Given the description of an element on the screen output the (x, y) to click on. 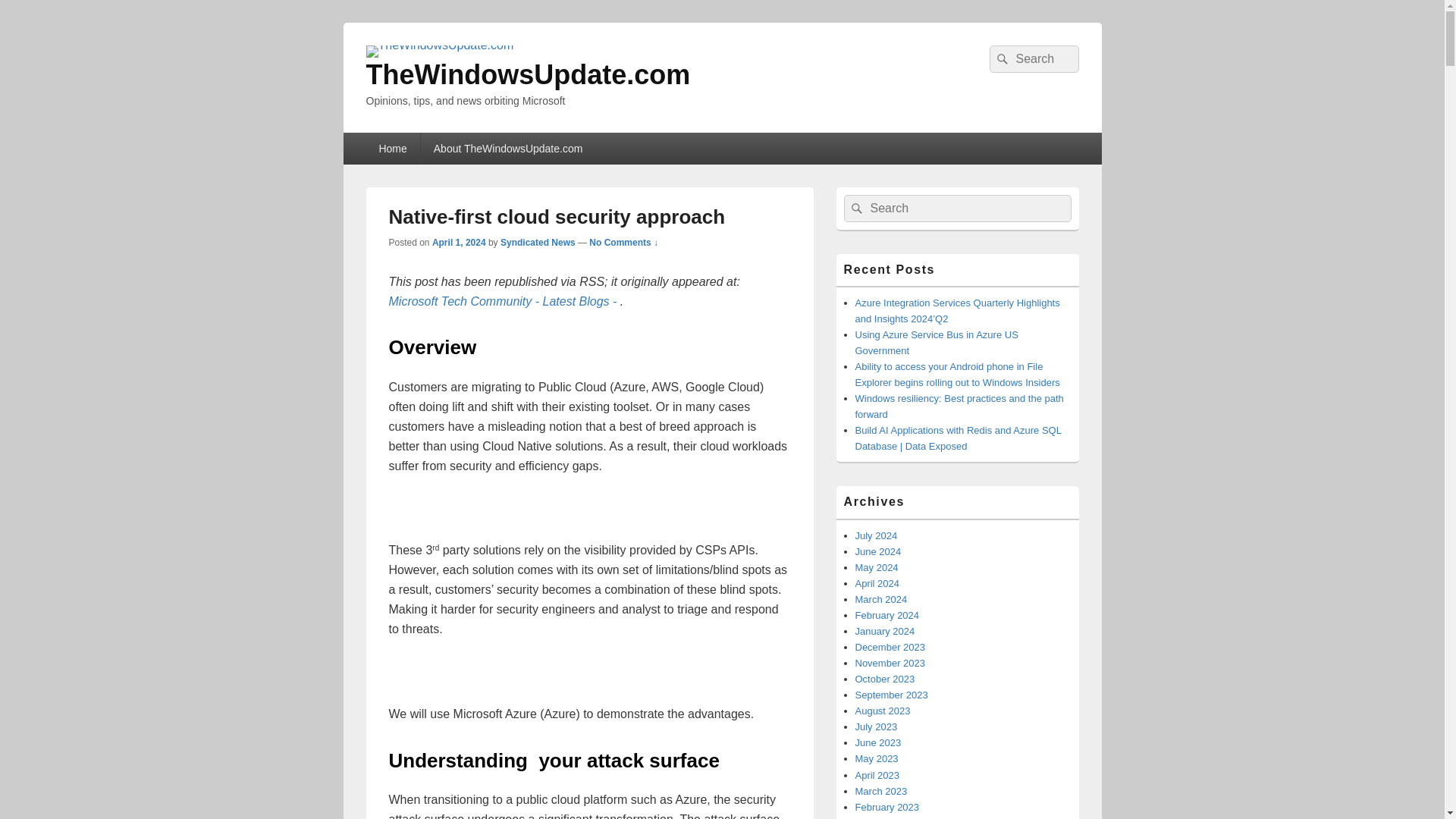
April 1, 2024 (459, 242)
About TheWindowsUpdate.com (507, 148)
Syndicated News (537, 242)
TheWindowsUpdate.com (527, 74)
Search for: (956, 207)
Search for: (1033, 58)
Search (999, 58)
View all posts by Syndicated News (537, 242)
Microsoft Tech Community - Latest Blogs - (504, 300)
3:14 PM (459, 242)
Home (392, 148)
